Given the description of an element on the screen output the (x, y) to click on. 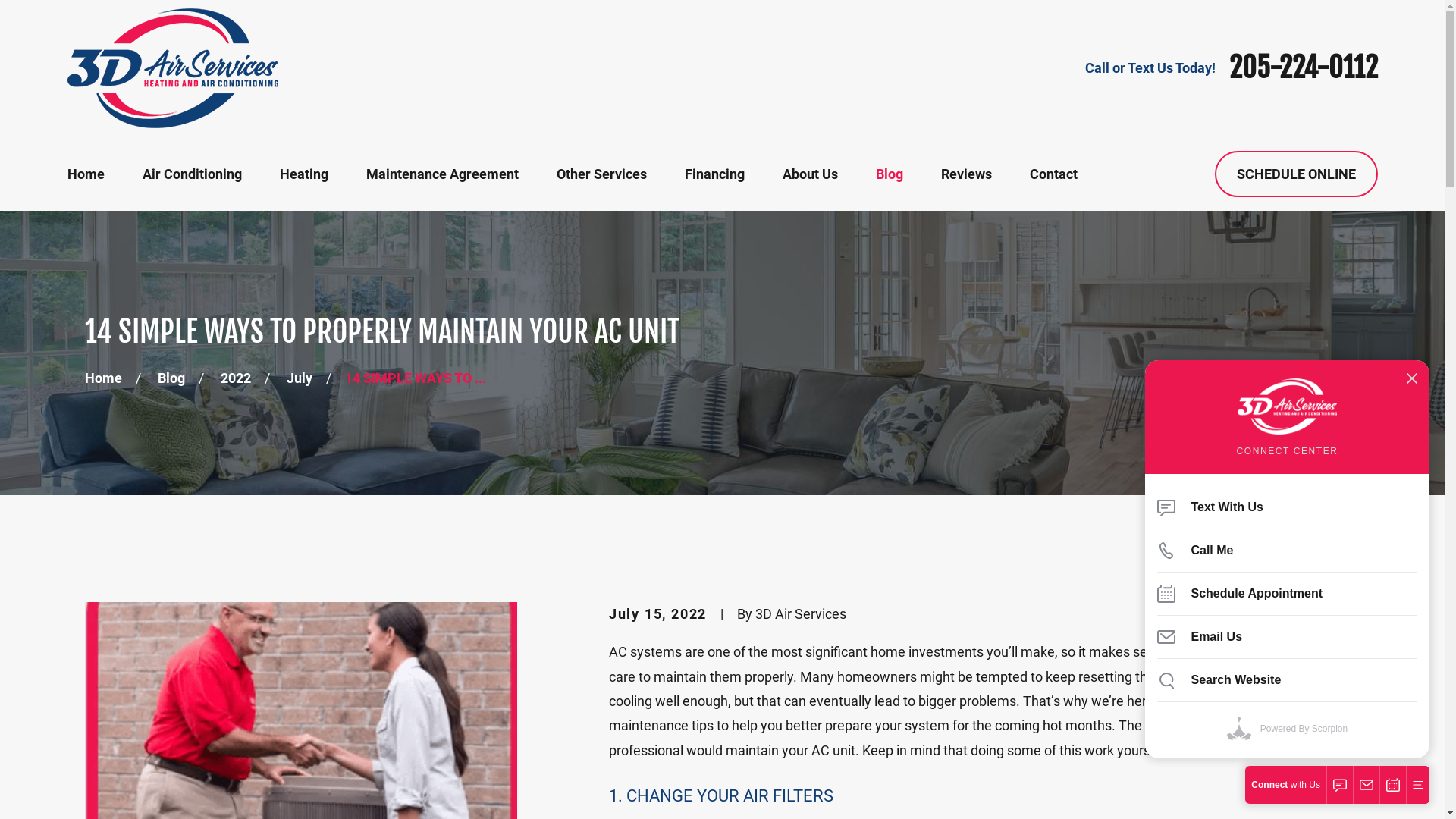
Financing Element type: text (713, 173)
Heating Element type: text (303, 173)
Air Conditioning Element type: text (191, 173)
SCHEDULE ONLINE Element type: text (1295, 173)
205-224-0112 Element type: text (1302, 67)
About Us Element type: text (809, 173)
Maintenance Agreement Element type: text (441, 173)
Home Element type: hover (171, 68)
Home Element type: text (84, 173)
2022 Element type: text (235, 377)
Other Services Element type: text (601, 173)
Contact Element type: text (1053, 173)
July Element type: text (299, 377)
Home Element type: text (103, 377)
Reviews Element type: text (965, 173)
Blog Element type: text (888, 173)
Blog Element type: text (171, 377)
